Given the description of an element on the screen output the (x, y) to click on. 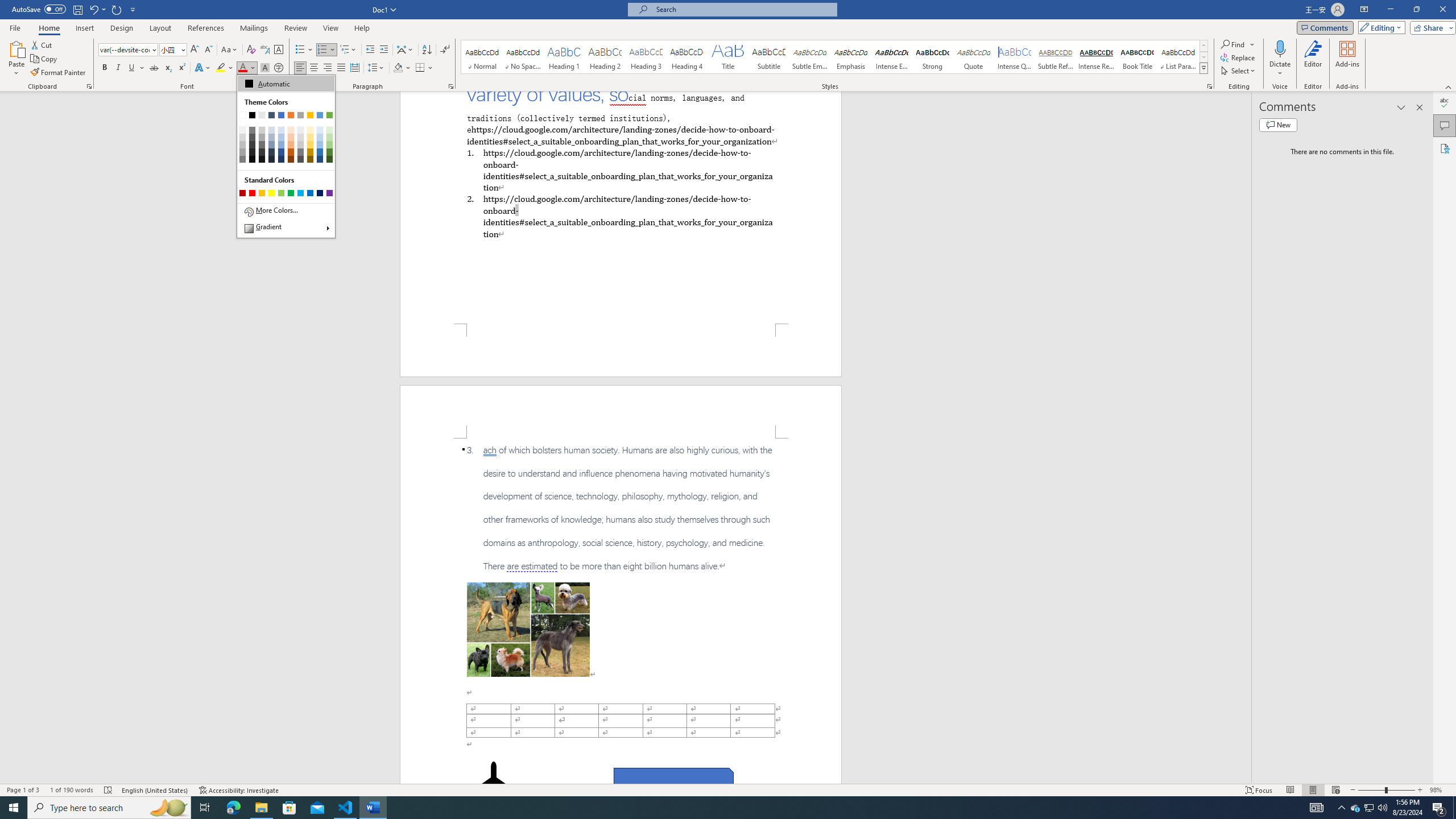
Airplane with solid fill (493, 783)
Heading 2 (605, 56)
Subtitle (768, 56)
